Given the description of an element on the screen output the (x, y) to click on. 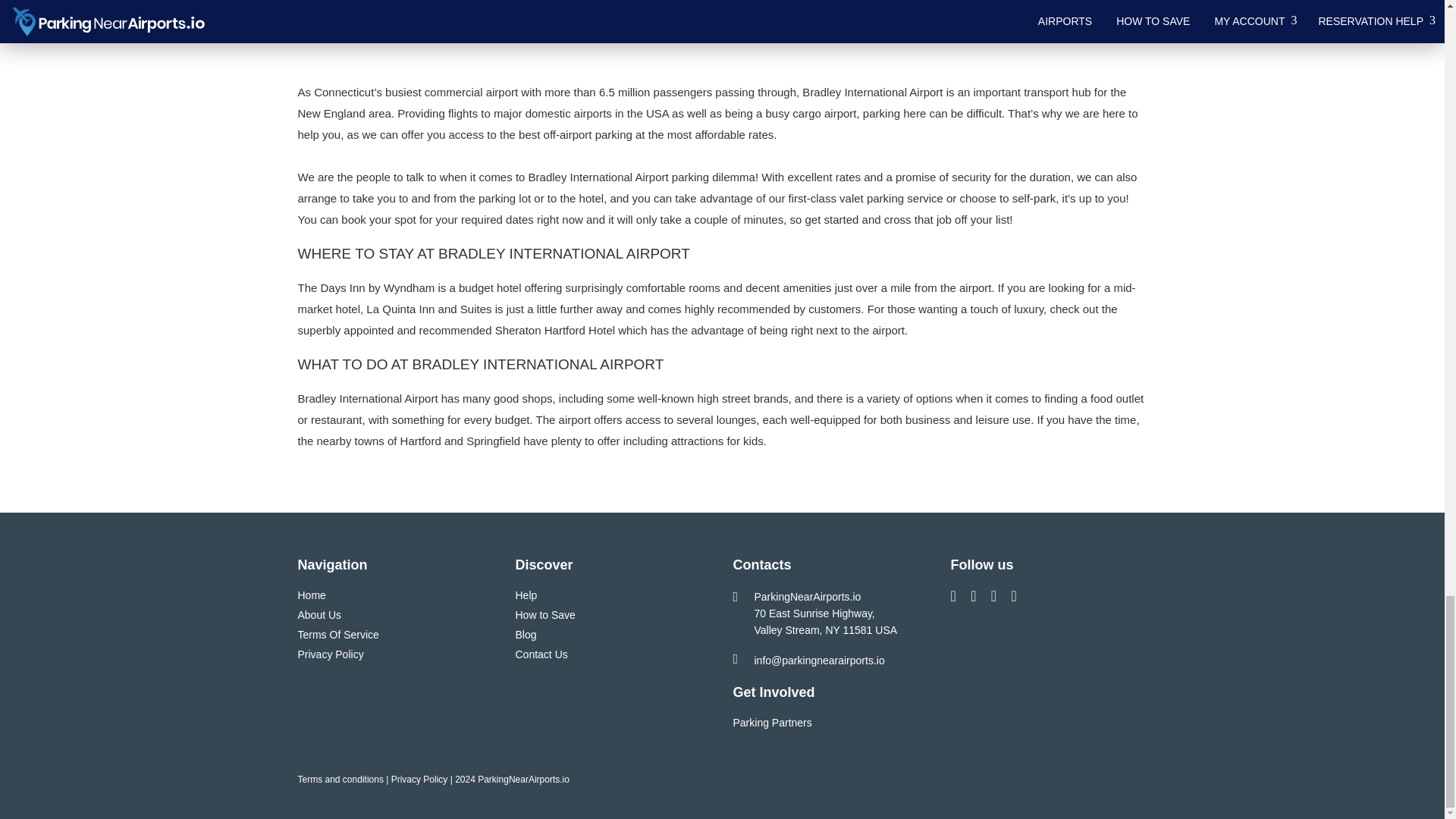
Help (526, 594)
Terms Of Service (337, 634)
Home (310, 594)
Contact Us (541, 654)
Parking Partners (771, 722)
Blog (526, 634)
About Us (318, 614)
How to Save (545, 614)
Privacy Policy (329, 654)
